Given the description of an element on the screen output the (x, y) to click on. 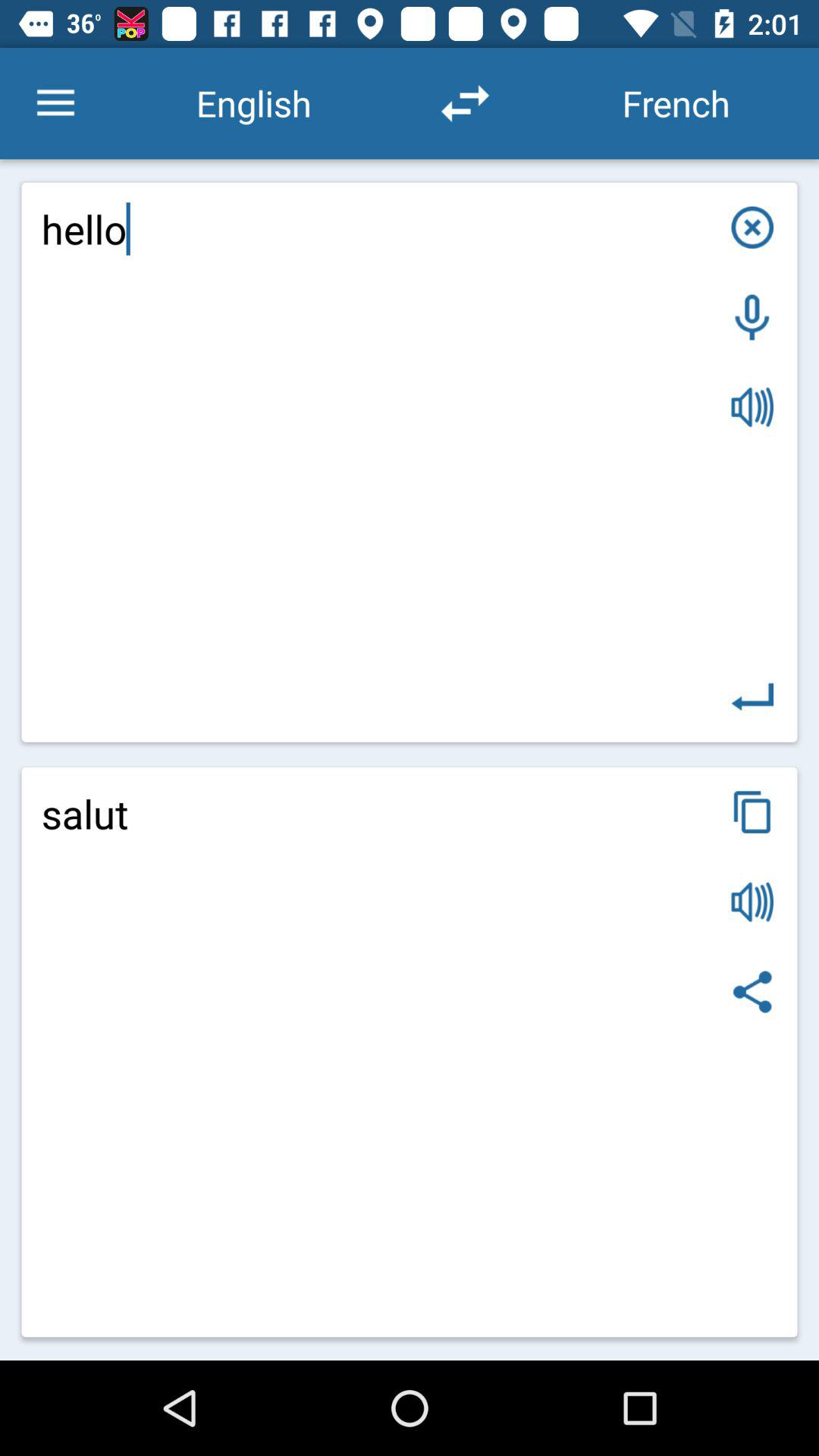
flip until salut (409, 1052)
